Given the description of an element on the screen output the (x, y) to click on. 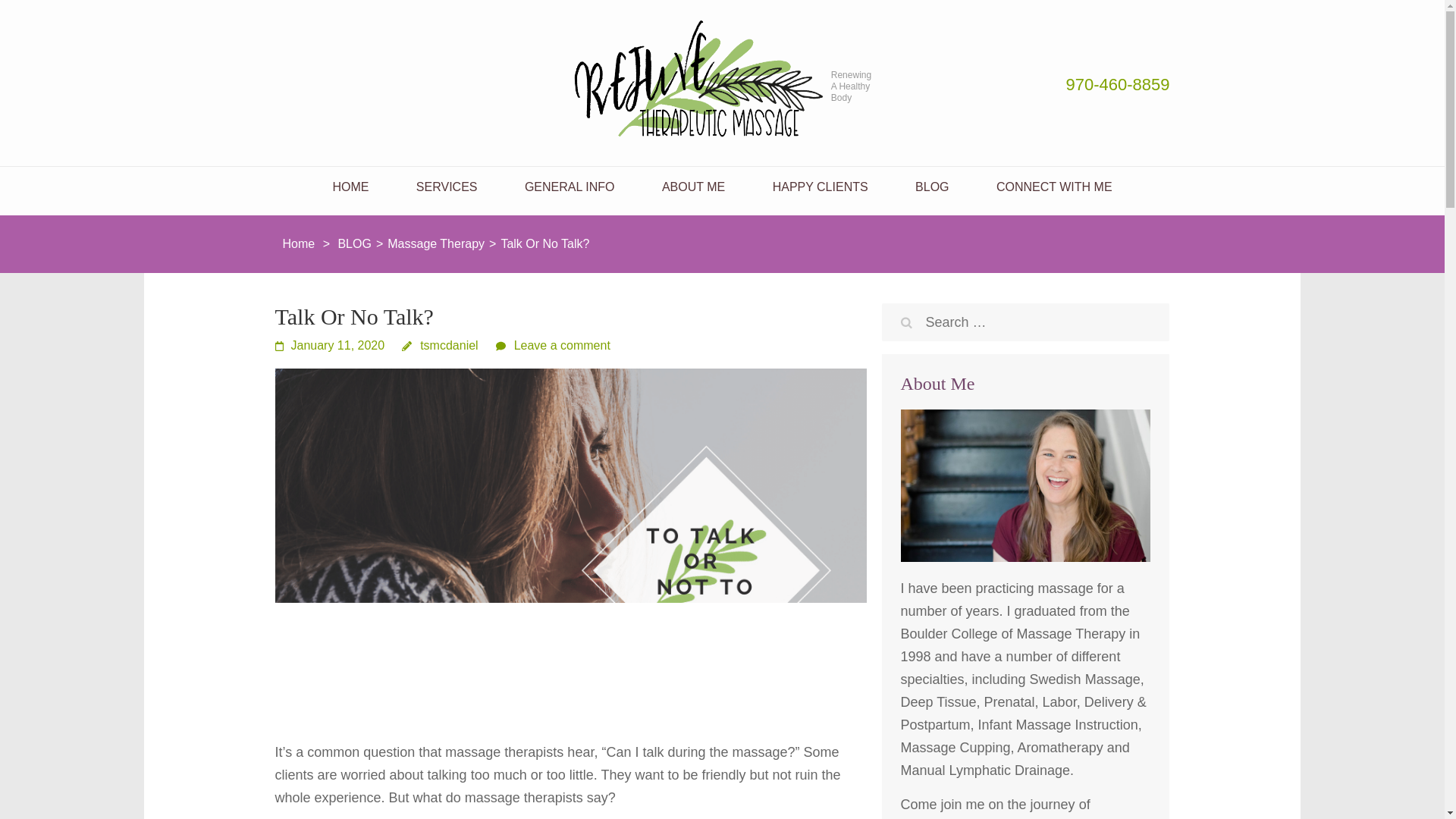
HAPPY CLIENTS (820, 186)
SERVICES (446, 186)
970-460-8859 (1019, 84)
GENERAL INFO (569, 186)
CONNECT WITH ME (1053, 186)
Search (906, 322)
Search (906, 322)
ABOUT ME (693, 186)
